Given the description of an element on the screen output the (x, y) to click on. 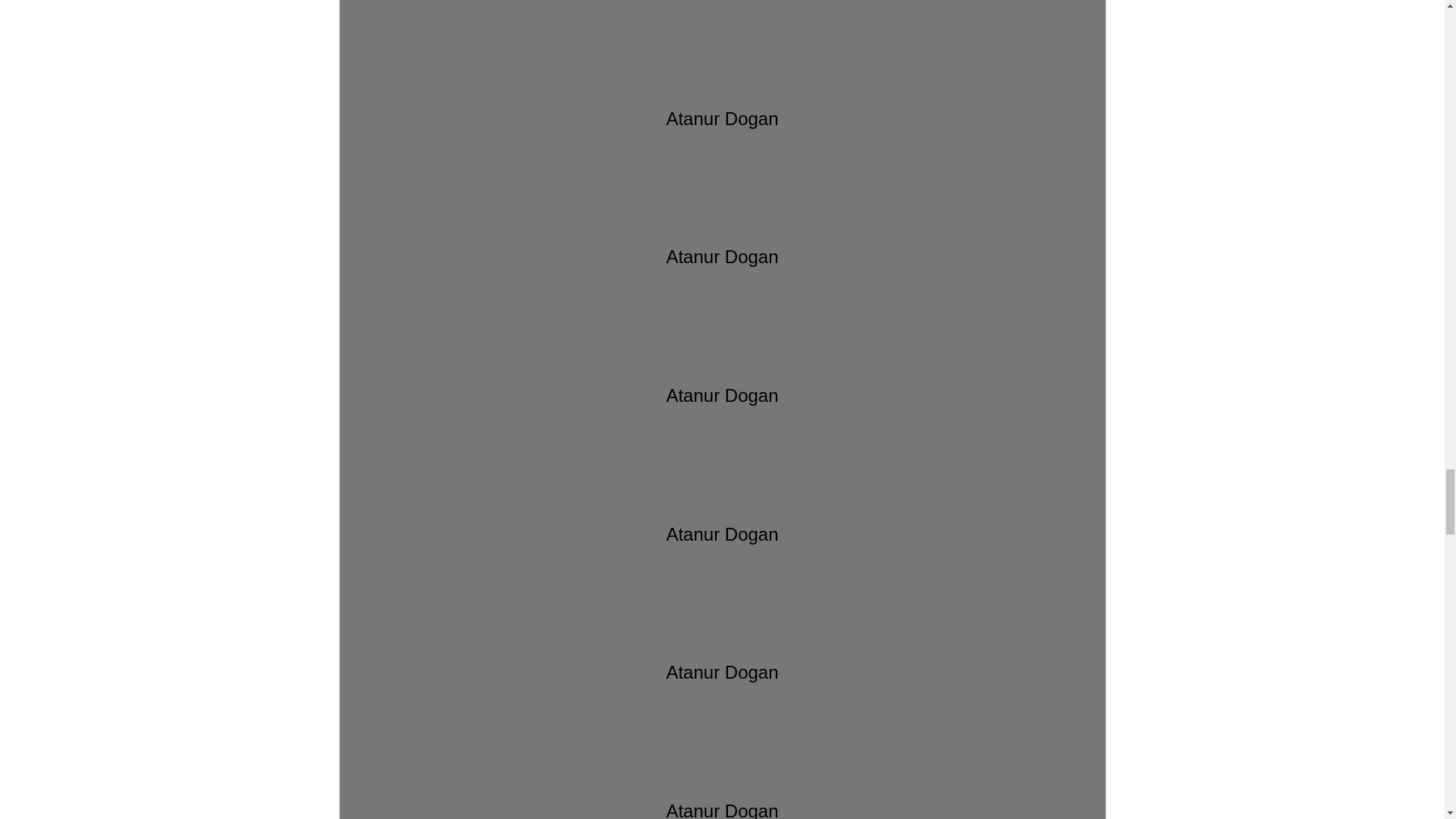
Atanur Dogan (722, 222)
Atanur Dogan (722, 84)
